Given the description of an element on the screen output the (x, y) to click on. 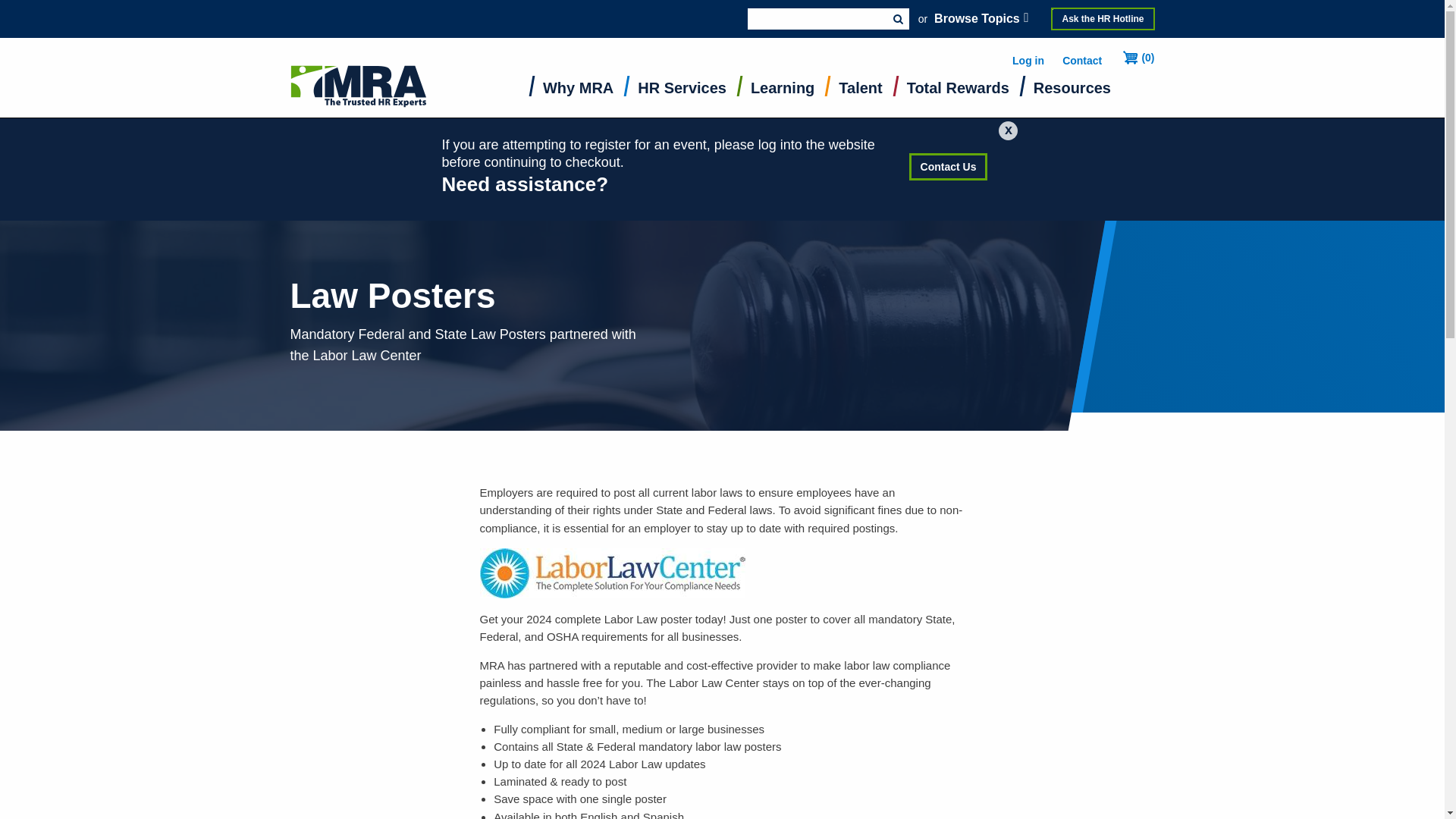
Log in (1027, 60)
Browse Topics (983, 18)
Submit (898, 18)
HR Services (682, 91)
Why MRA (578, 91)
Learning (782, 91)
Ask the HR Hotline (1102, 18)
Contact (1082, 60)
